Given the description of an element on the screen output the (x, y) to click on. 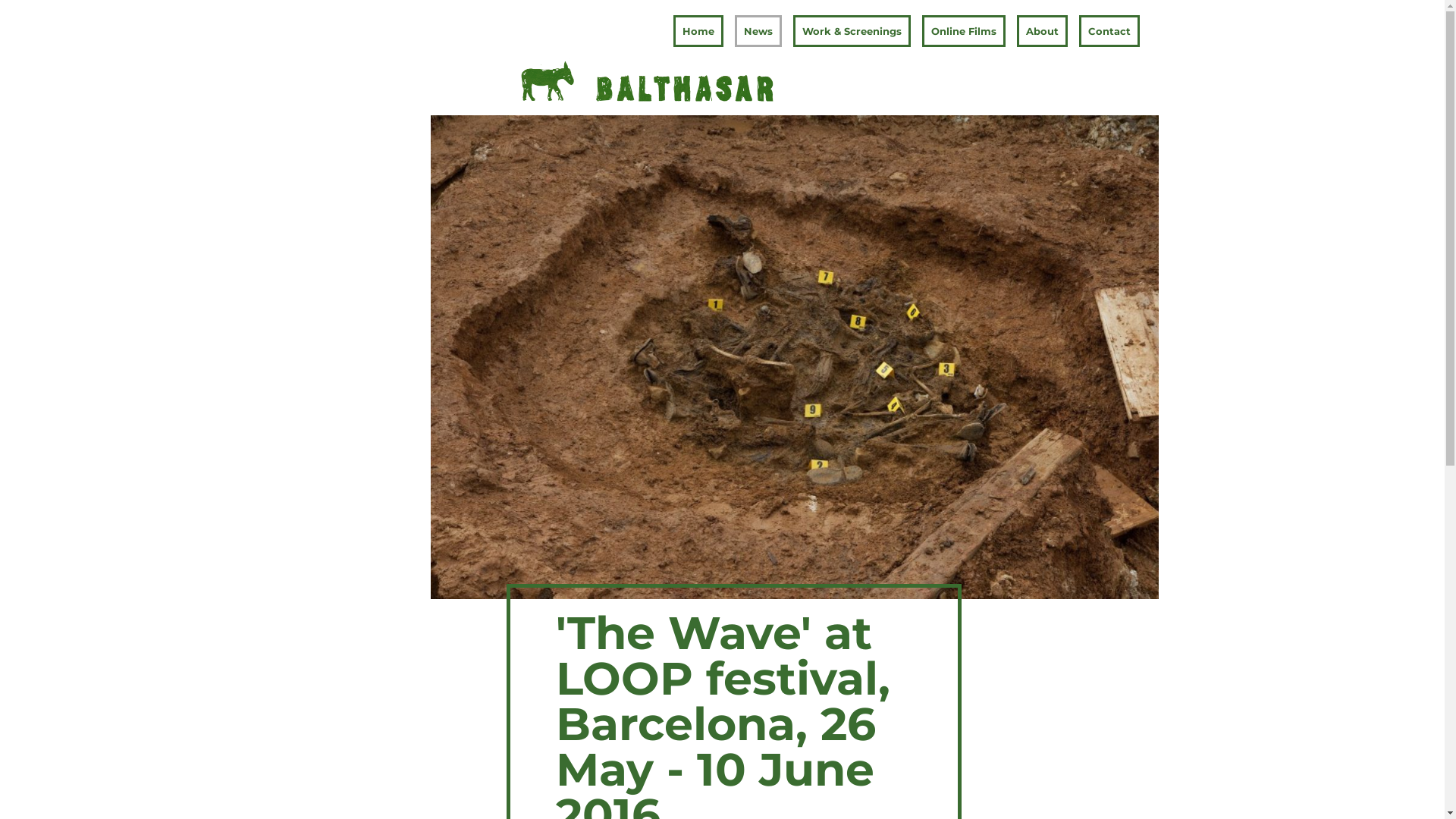
Online Films Element type: text (963, 31)
About Element type: text (1041, 31)
Home Element type: text (698, 31)
Contact Element type: text (1108, 31)
Work & Screenings Element type: text (851, 31)
News Element type: text (757, 31)
